Given the description of an element on the screen output the (x, y) to click on. 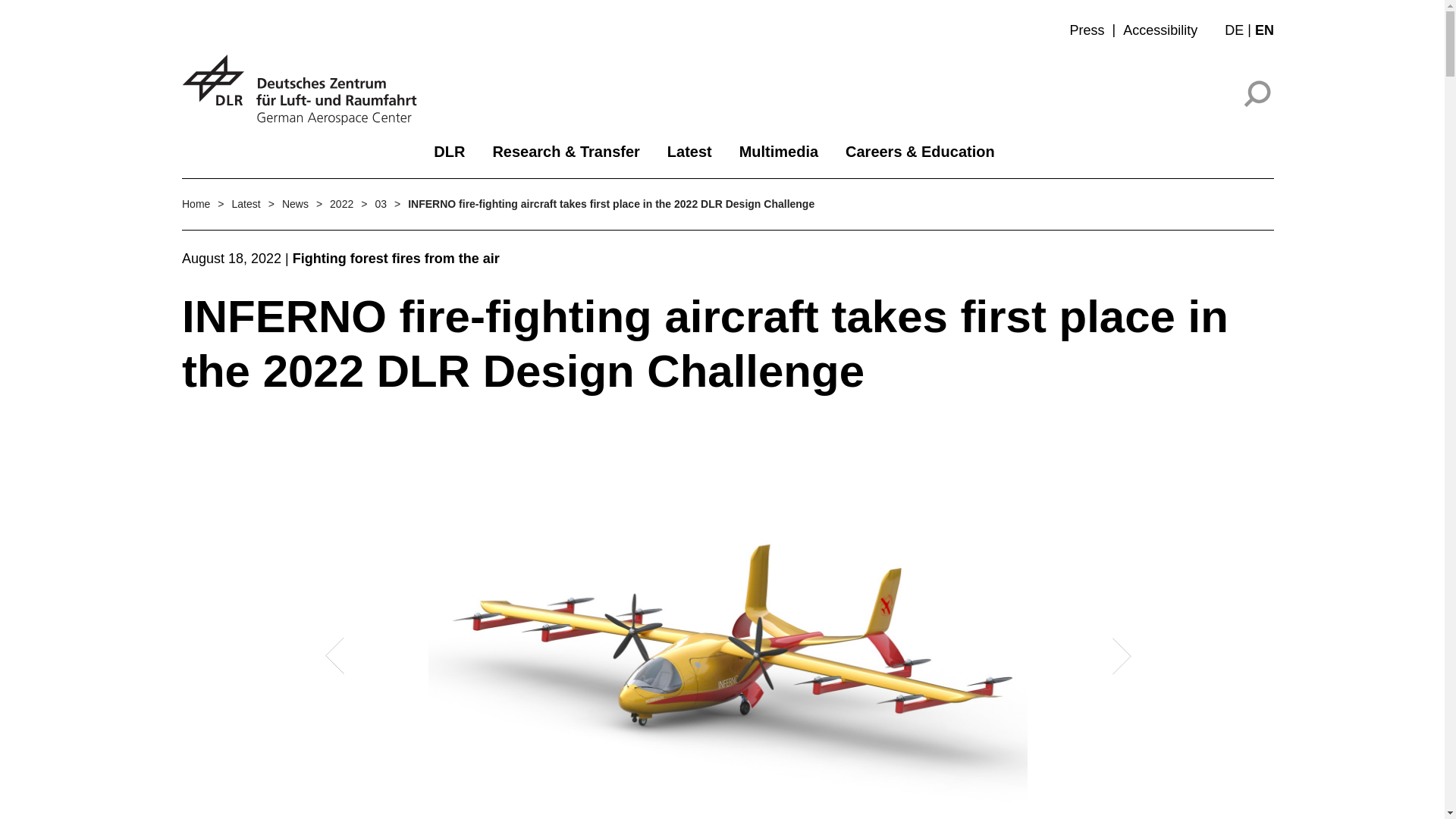
Press (1087, 30)
DE (1239, 29)
Deutsch (1239, 29)
Accessibility (1159, 30)
Home (195, 204)
Search (1259, 92)
